Given the description of an element on the screen output the (x, y) to click on. 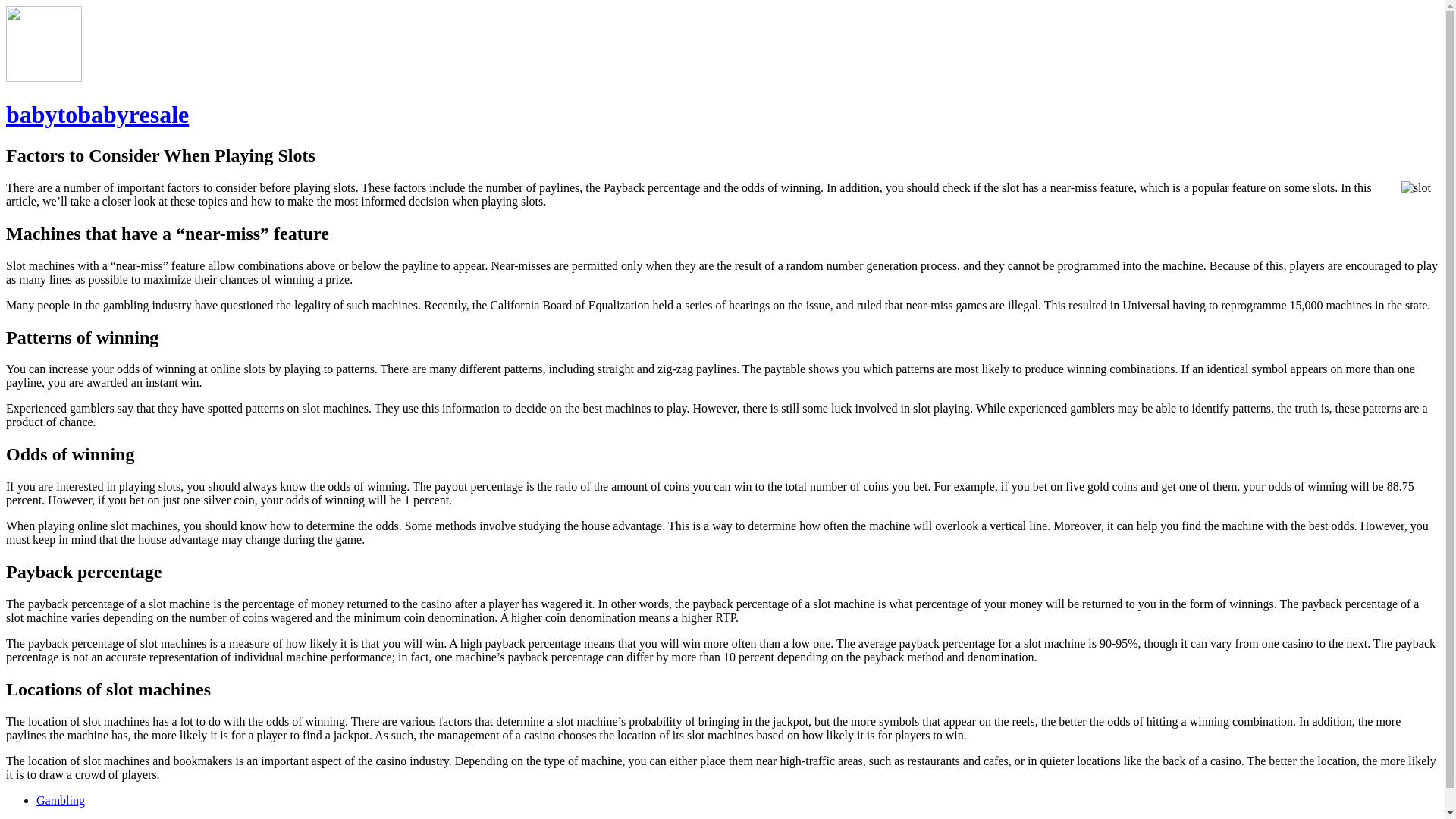
Gambling (60, 799)
babytobabyresale (97, 113)
babytobabyresale (97, 113)
